Given the description of an element on the screen output the (x, y) to click on. 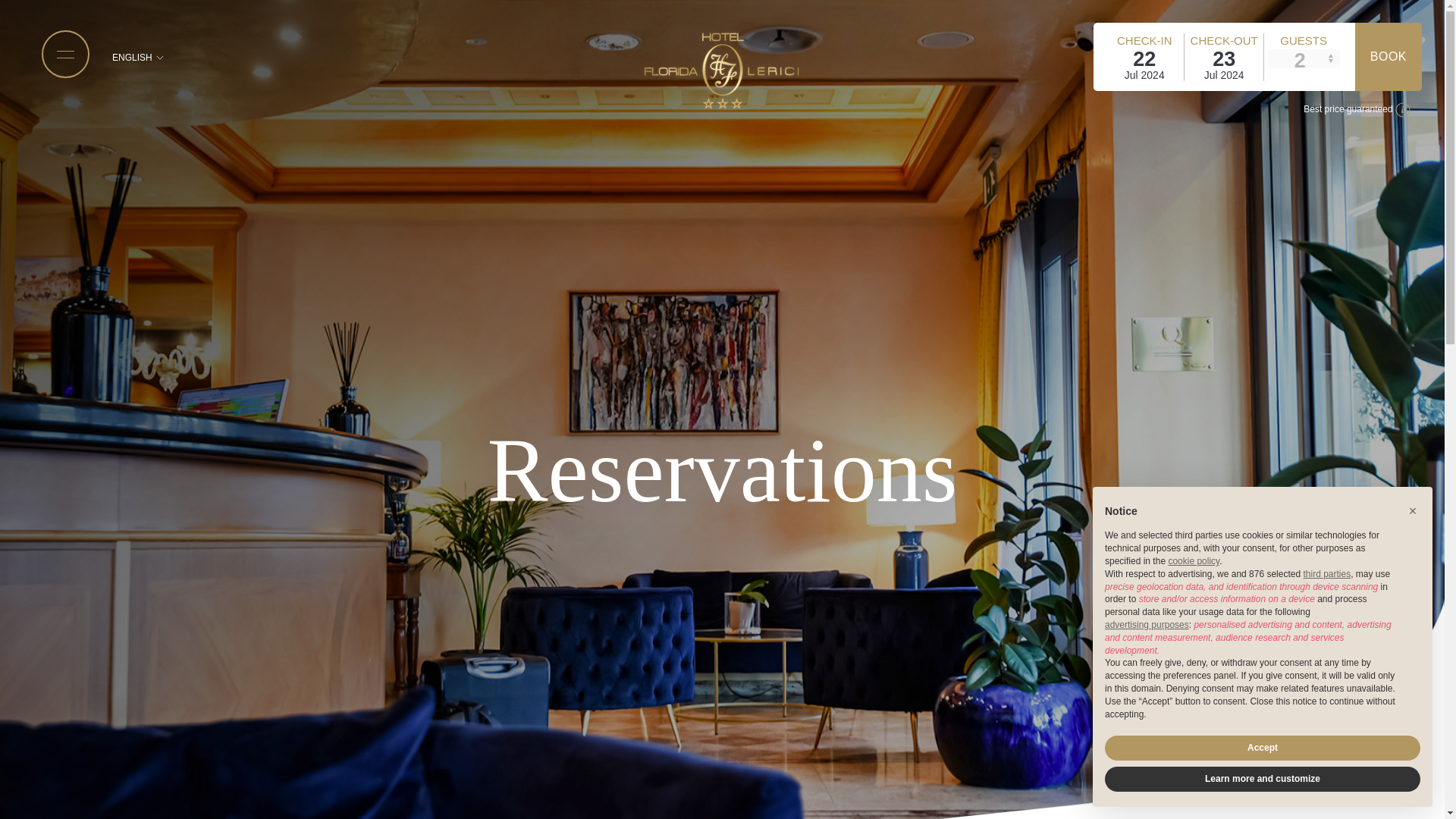
ENGLISH (138, 56)
BOOK (1388, 56)
Reservations (722, 470)
Hotel Florida Lerici (722, 70)
